Given the description of an element on the screen output the (x, y) to click on. 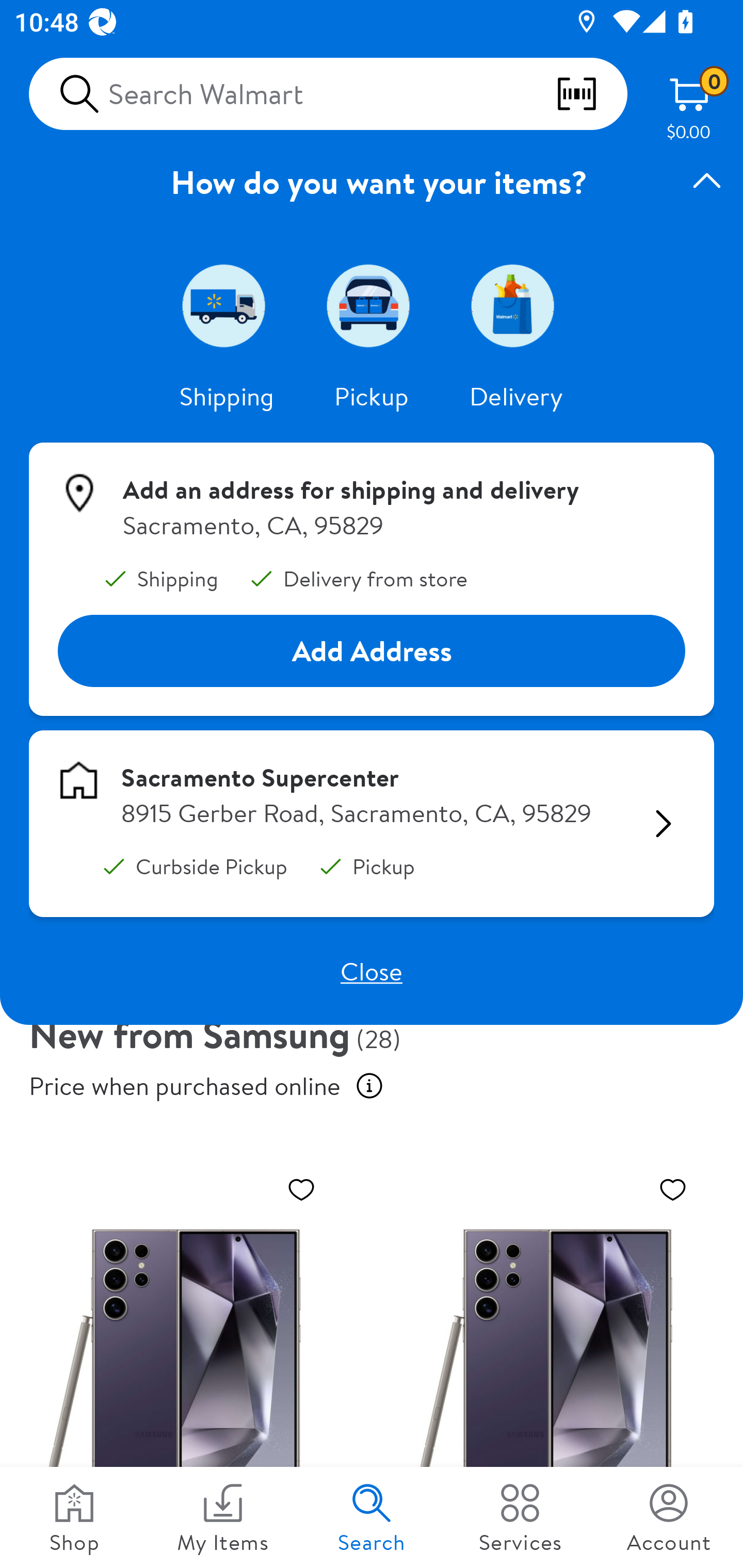
Search Walmart scan barcodes qr codes and more (327, 94)
scan barcodes qr codes and more (591, 94)
How do you want your items? expanded (371, 181)
Shipping 1 of 3 (226, 305)
Pickup 2 of 3 (371, 305)
Delivery 3 of 3 (515, 305)
Add Address (371, 650)
Close (371, 970)
Price when purchased online (184, 1085)
Price when purchased online (369, 1085)
Shop (74, 1517)
My Items (222, 1517)
Services (519, 1517)
Account (668, 1517)
